Given the description of an element on the screen output the (x, y) to click on. 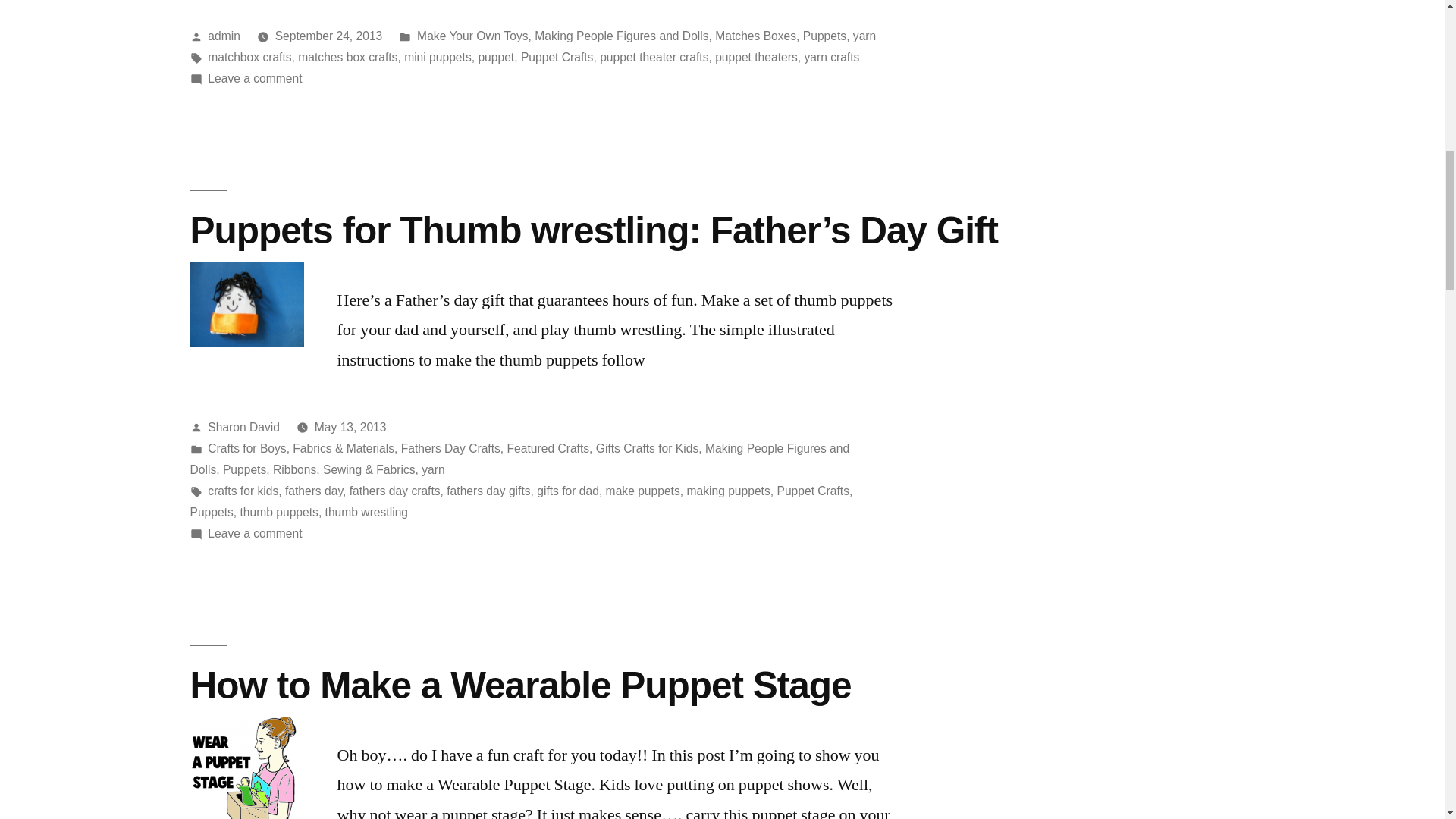
September 24, 2013 (328, 35)
Puppets (824, 35)
yarn (864, 35)
Make Your Own Toys (472, 35)
Matches Boxes (755, 35)
puppet theaters (755, 56)
Sharon David (243, 427)
matchbox crafts (249, 56)
puppet (495, 56)
